Given the description of an element on the screen output the (x, y) to click on. 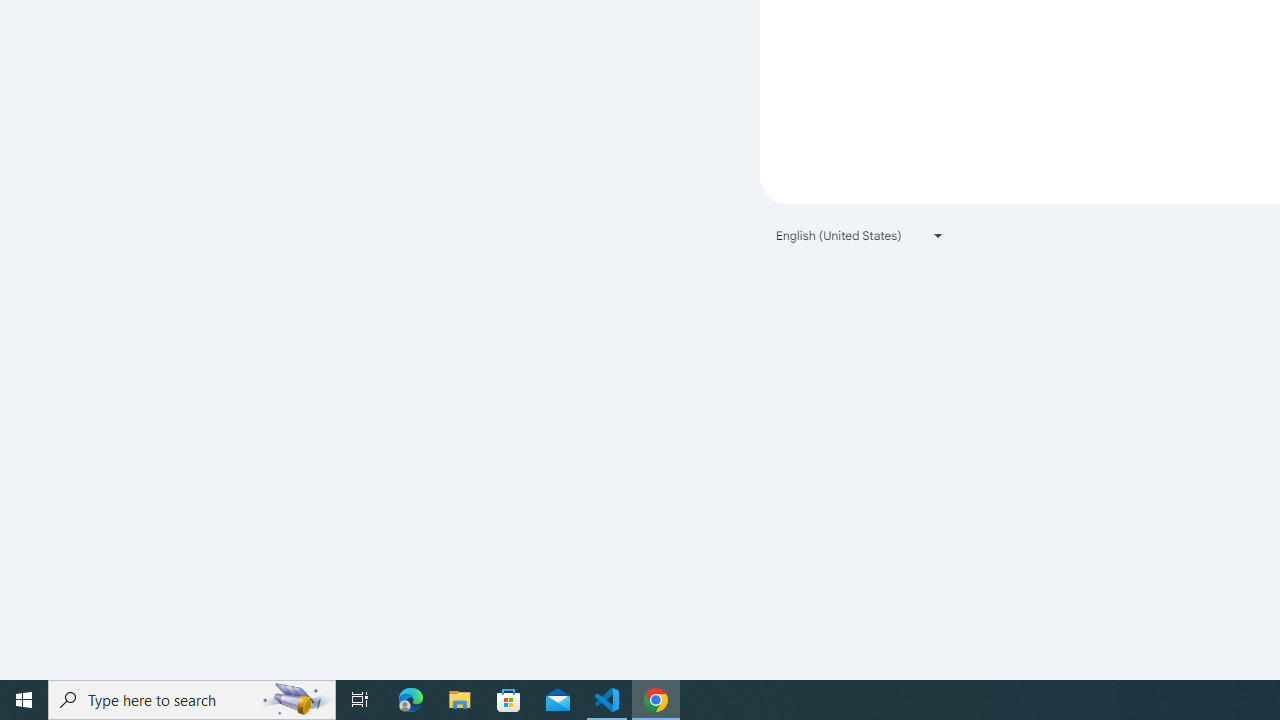
English (United States) (860, 234)
